Given the description of an element on the screen output the (x, y) to click on. 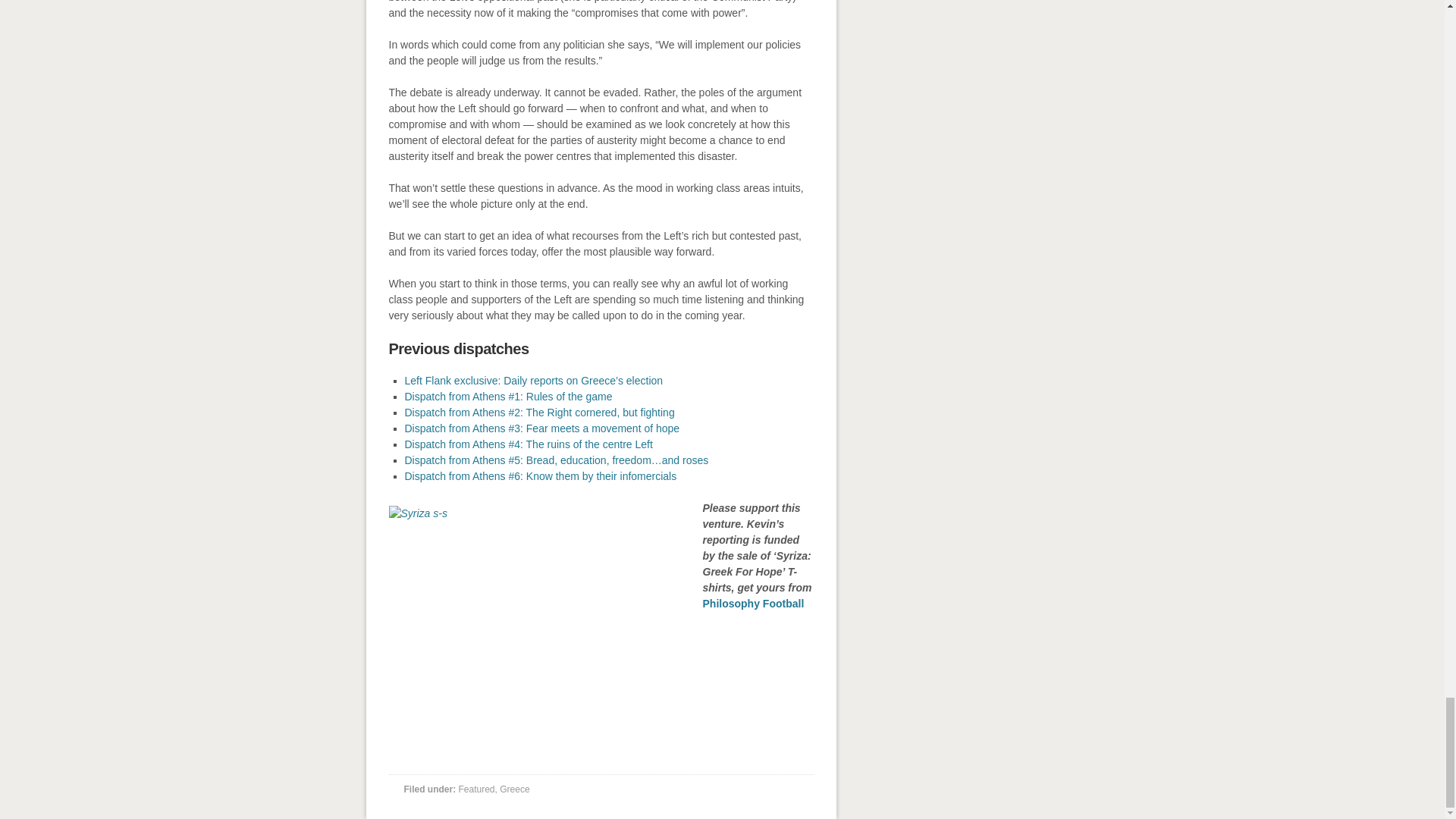
Greece (514, 789)
Philosophy Football (752, 603)
Featured (476, 789)
